Given the description of an element on the screen output the (x, y) to click on. 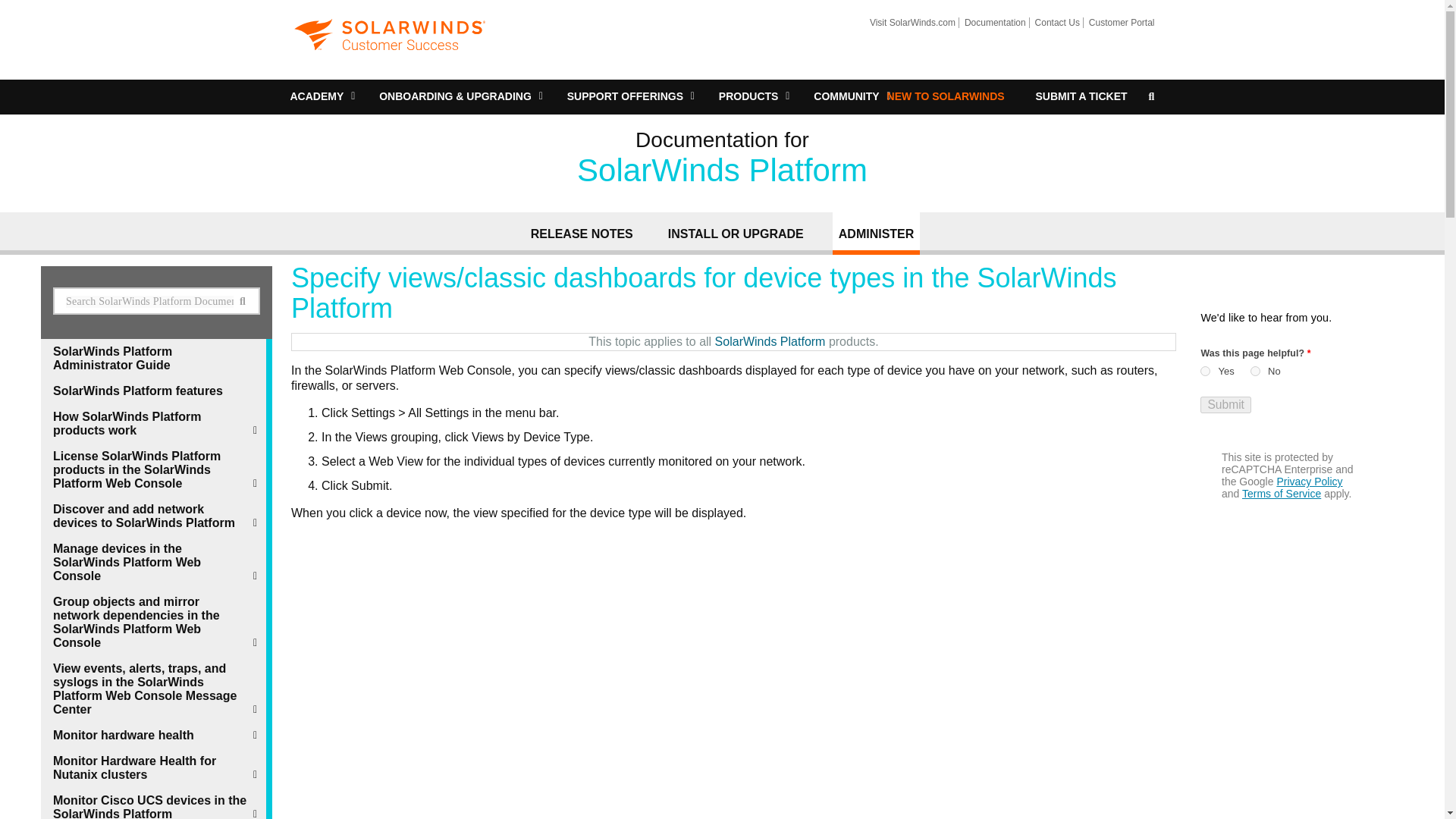
Customer Portal (1118, 22)
Visit SolarWinds.com (909, 22)
Documentation (992, 22)
ACADEMY (316, 96)
Contact Us (1054, 22)
